Given the description of an element on the screen output the (x, y) to click on. 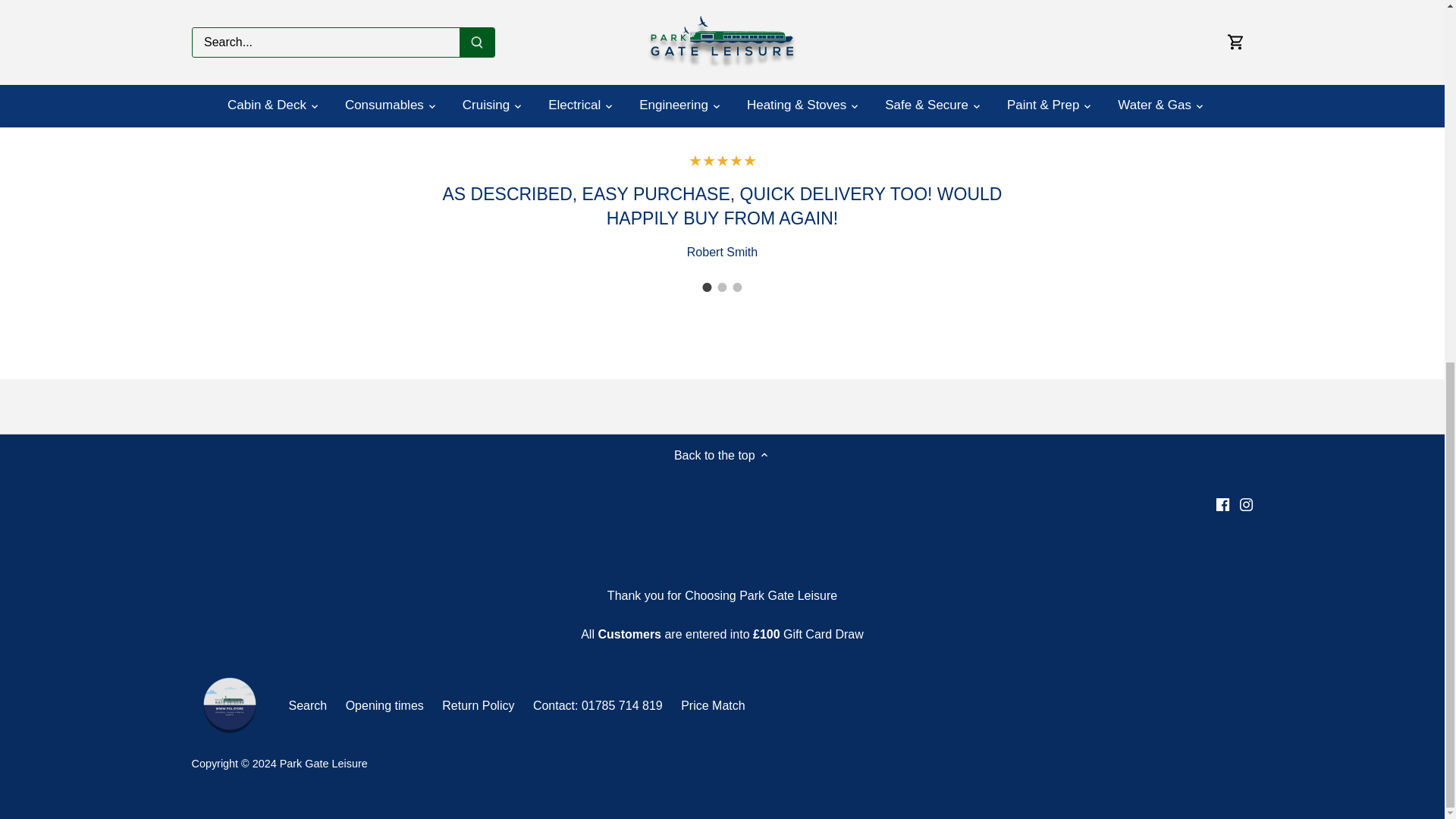
Facebook (878, 2)
Twitter (899, 2)
Pinterest (918, 2)
Facebook (1221, 504)
